Given the description of an element on the screen output the (x, y) to click on. 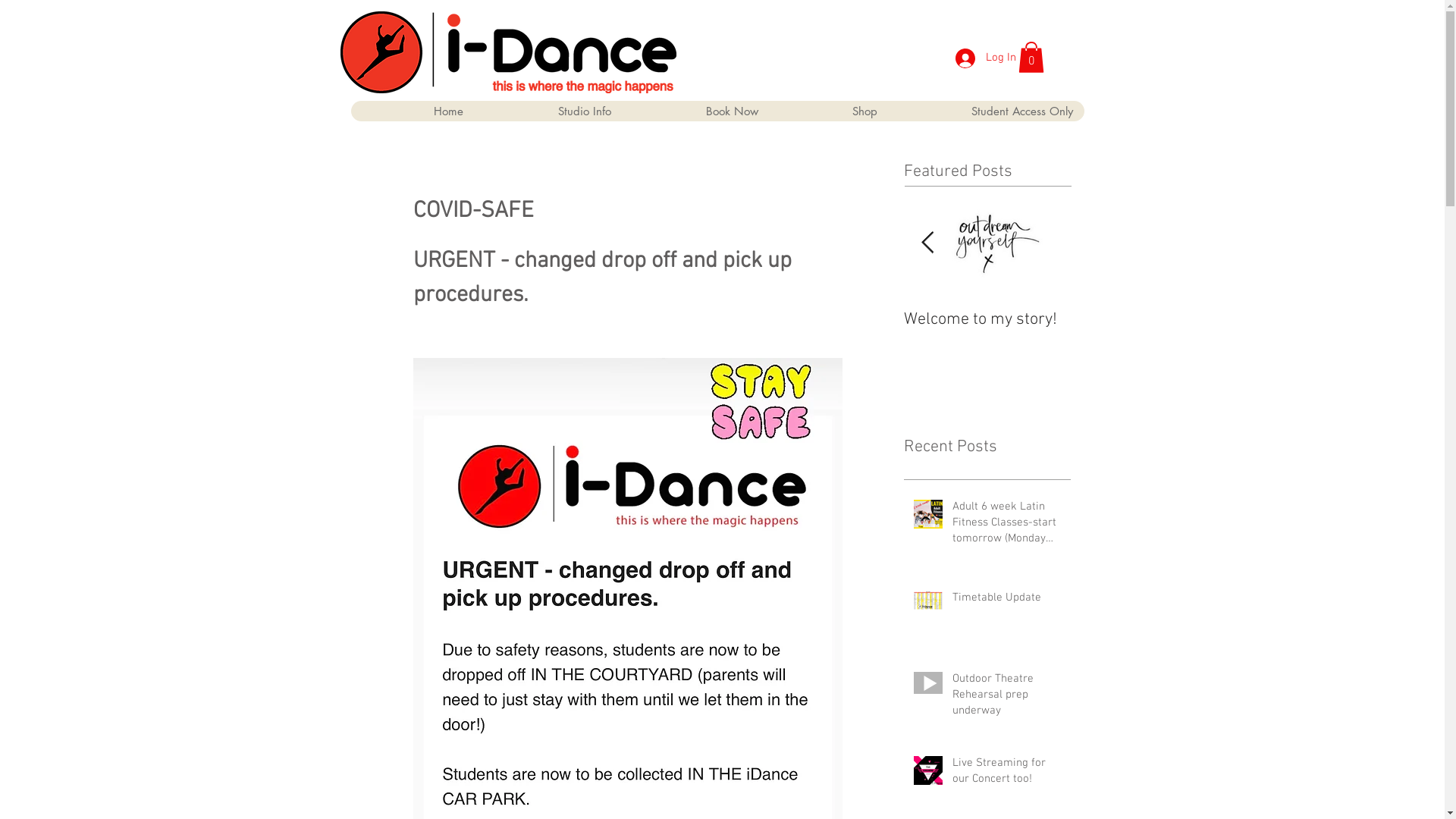
Welcome! Element type: text (820, 319)
Student Access Only Element type: text (986, 110)
Welcome, Darcy Element type: text (152, 319)
Book Now Element type: text (694, 110)
Untitled Element type: text (486, 319)
Live Streaming for our Concert too! Element type: text (1006, 774)
Welcome to my story! Element type: text (986, 319)
Home Element type: text (411, 110)
Log In Element type: text (985, 57)
Timetable Update Element type: text (1006, 600)
0 Element type: text (1030, 56)
We are so proud of you Miss Eliza Element type: text (319, 329)
Shop Element type: text (828, 110)
